Given the description of an element on the screen output the (x, y) to click on. 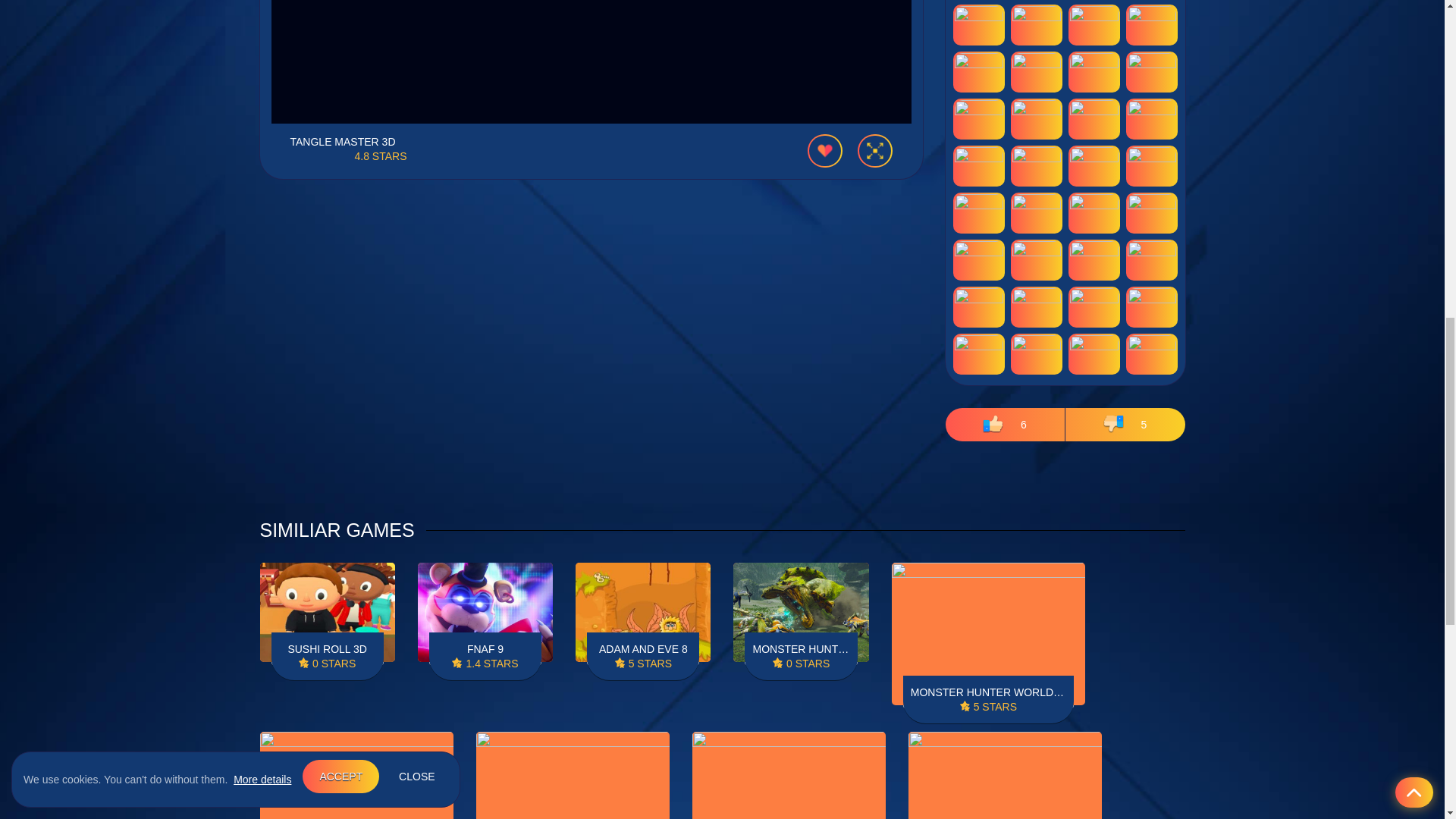
TO MY GAMES (823, 150)
FULLSCREEN (874, 150)
Favorites (823, 150)
Fullscreen (874, 150)
